Given the description of an element on the screen output the (x, y) to click on. 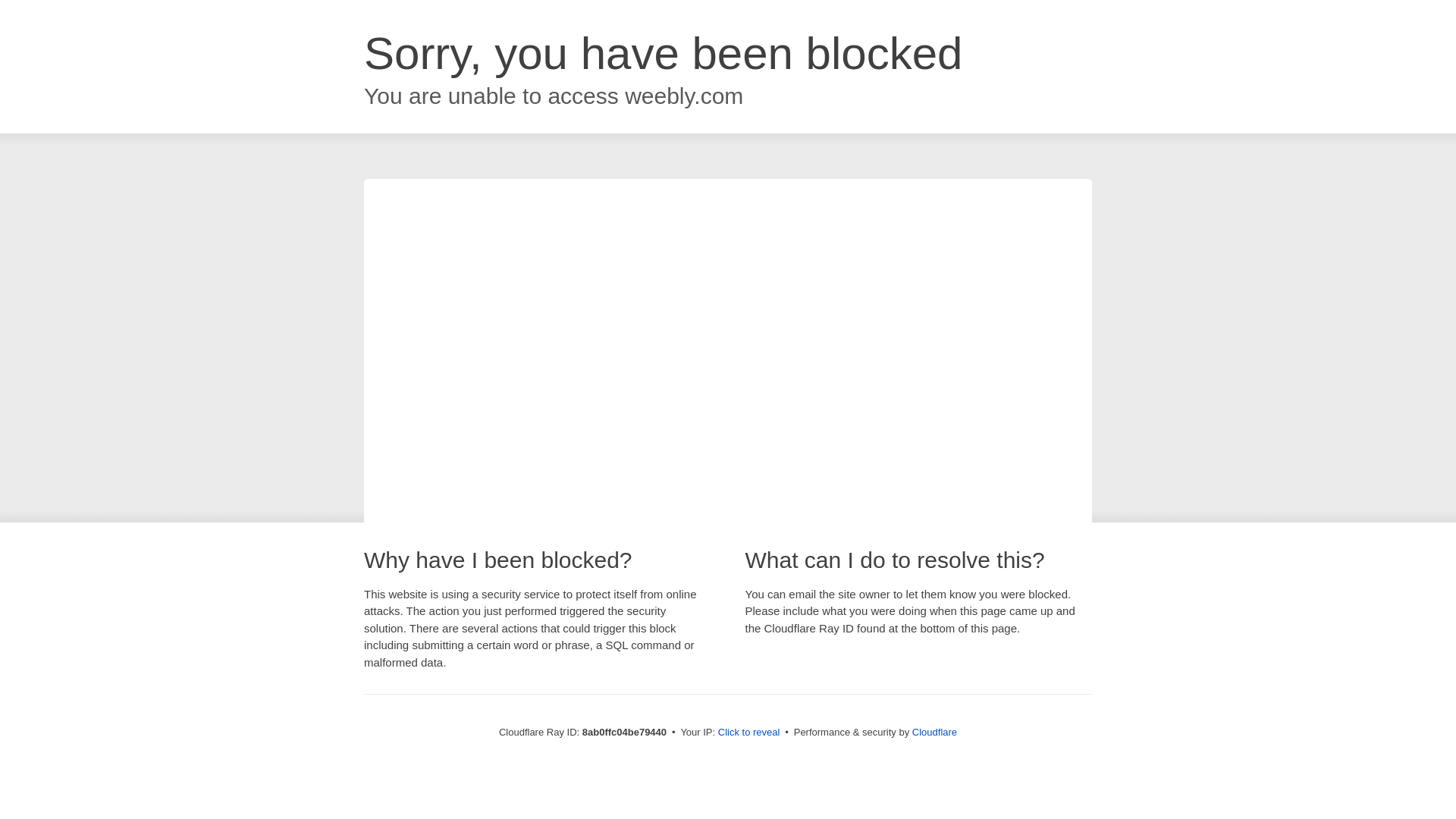
Click to reveal (748, 732)
Cloudflare (934, 731)
